Given the description of an element on the screen output the (x, y) to click on. 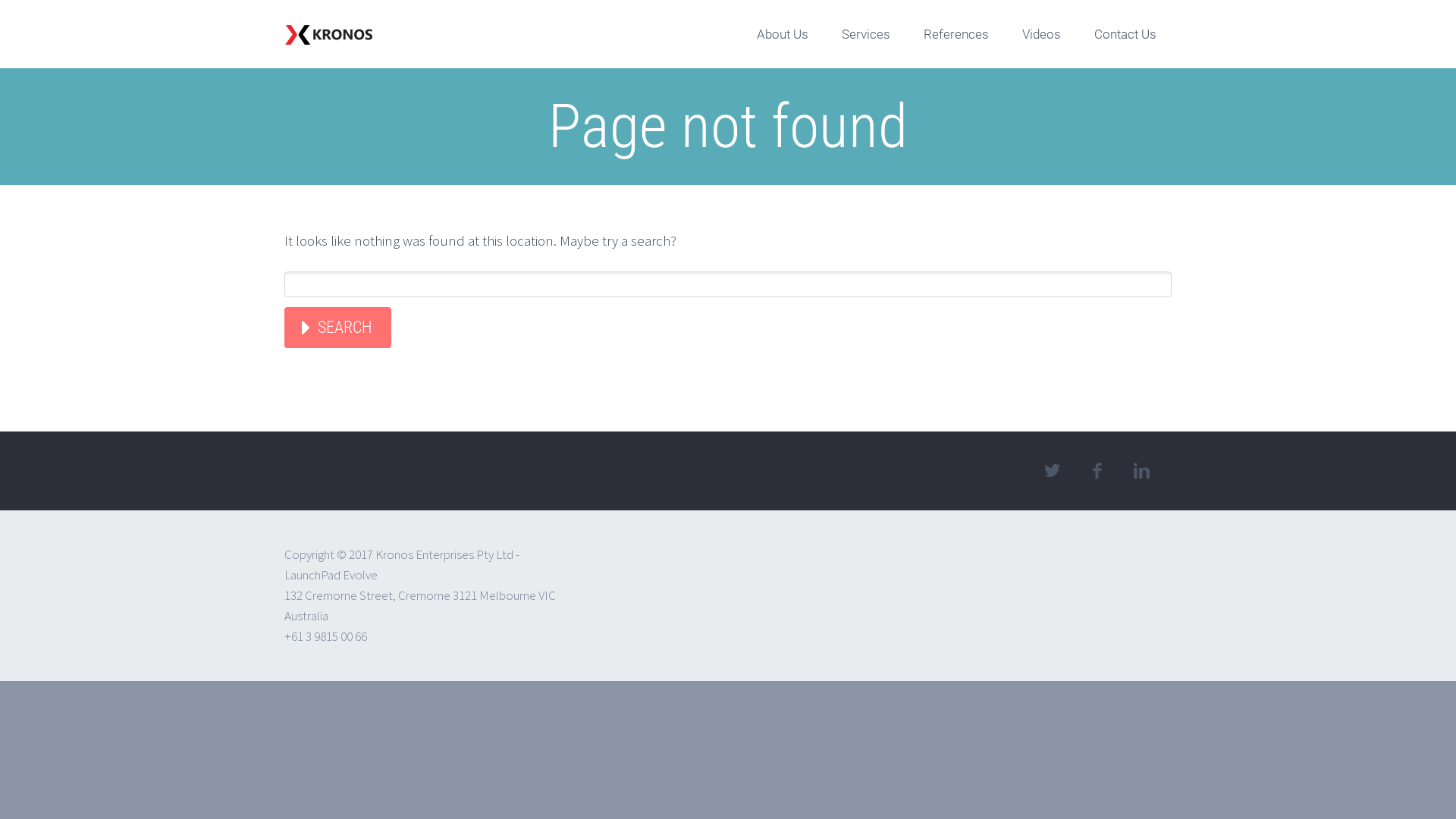
Contact Us Element type: text (1125, 34)
SEARCH Element type: text (337, 327)
About Us Element type: text (782, 34)
twitter Element type: text (1051, 470)
linkedin Element type: text (1140, 470)
Videos Element type: text (1041, 34)
Services Element type: text (865, 34)
References Element type: text (956, 34)
facebook Element type: text (1096, 470)
